Given the description of an element on the screen output the (x, y) to click on. 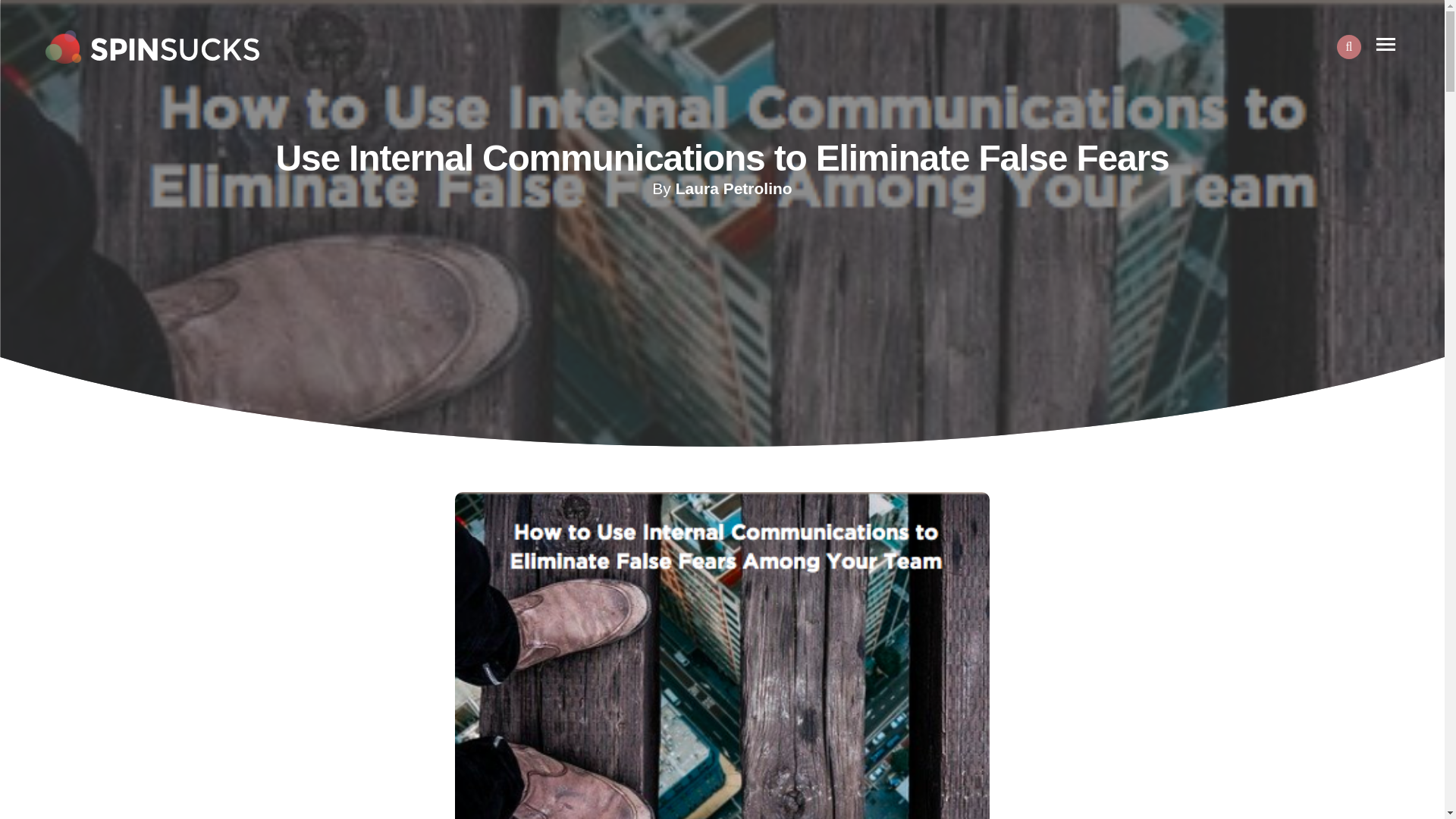
Laura Petrolino (733, 188)
